Given the description of an element on the screen output the (x, y) to click on. 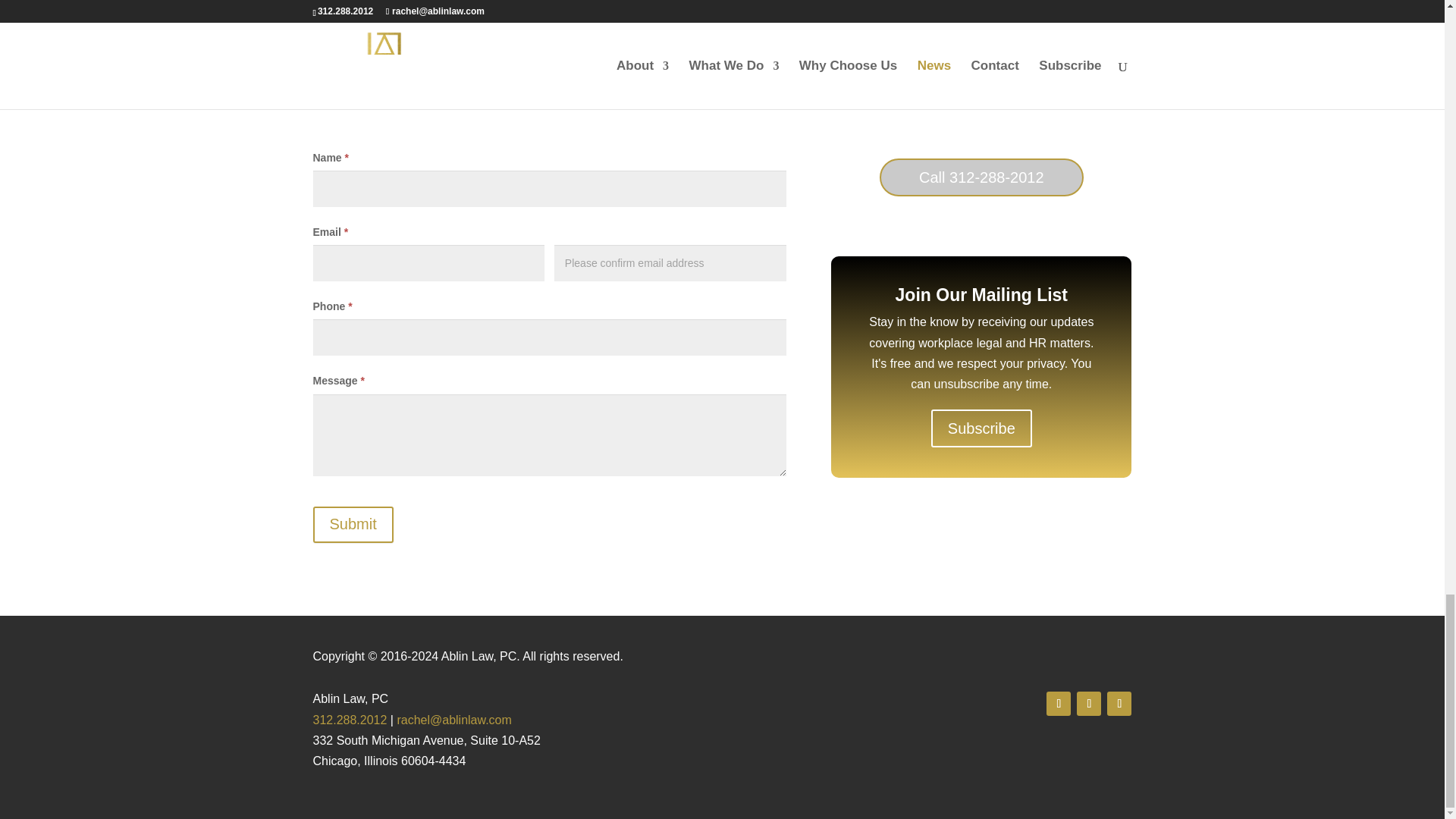
Follow on Facebook (1058, 703)
Follow on Google (1088, 703)
Follow on LinkedIn (1118, 703)
